Given the description of an element on the screen output the (x, y) to click on. 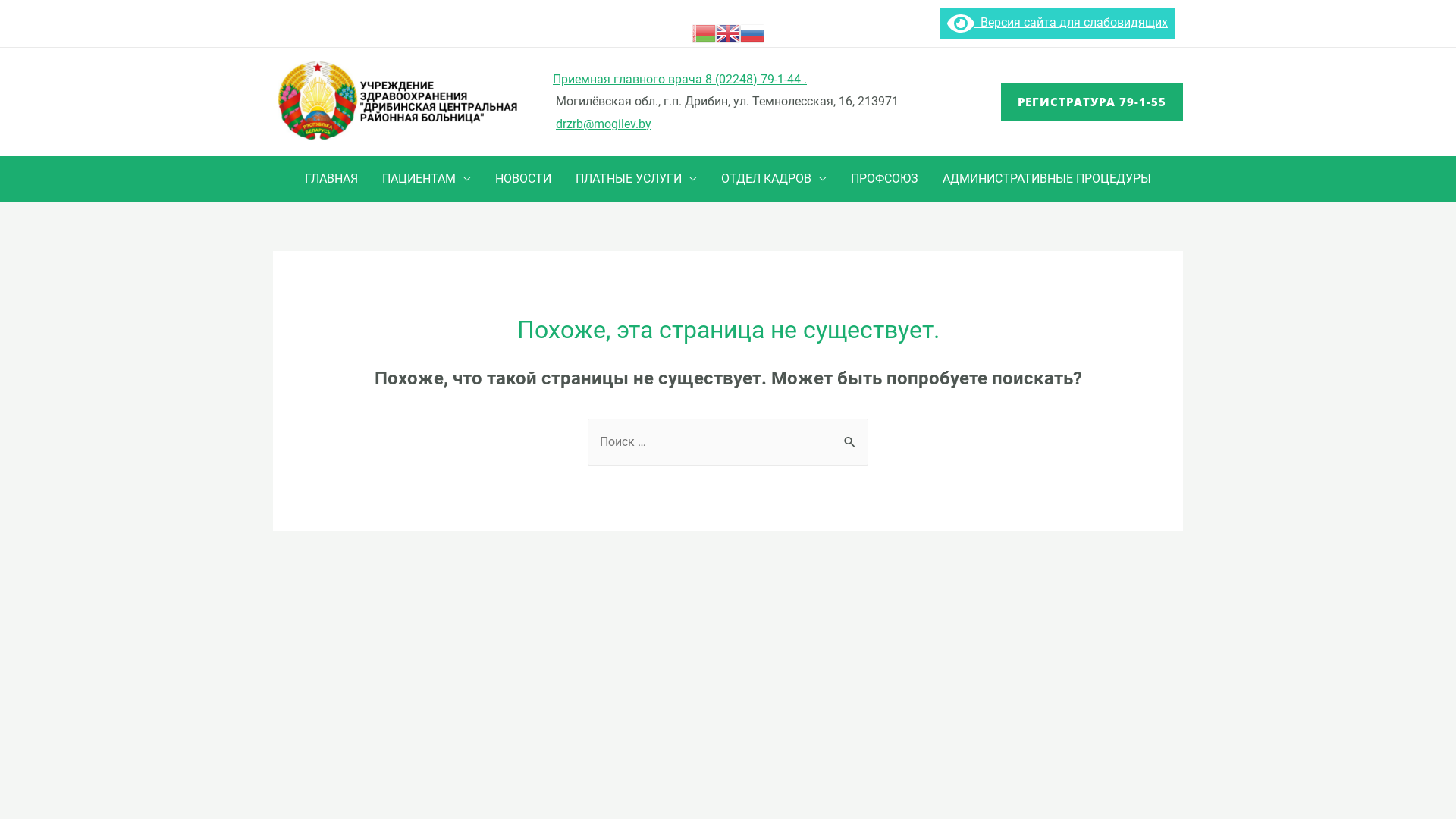
Russian Element type: hover (752, 32)
Belarusian Element type: hover (703, 32)
drzrb@mogilev.by Element type: text (603, 123)
English Element type: hover (727, 32)
